Given the description of an element on the screen output the (x, y) to click on. 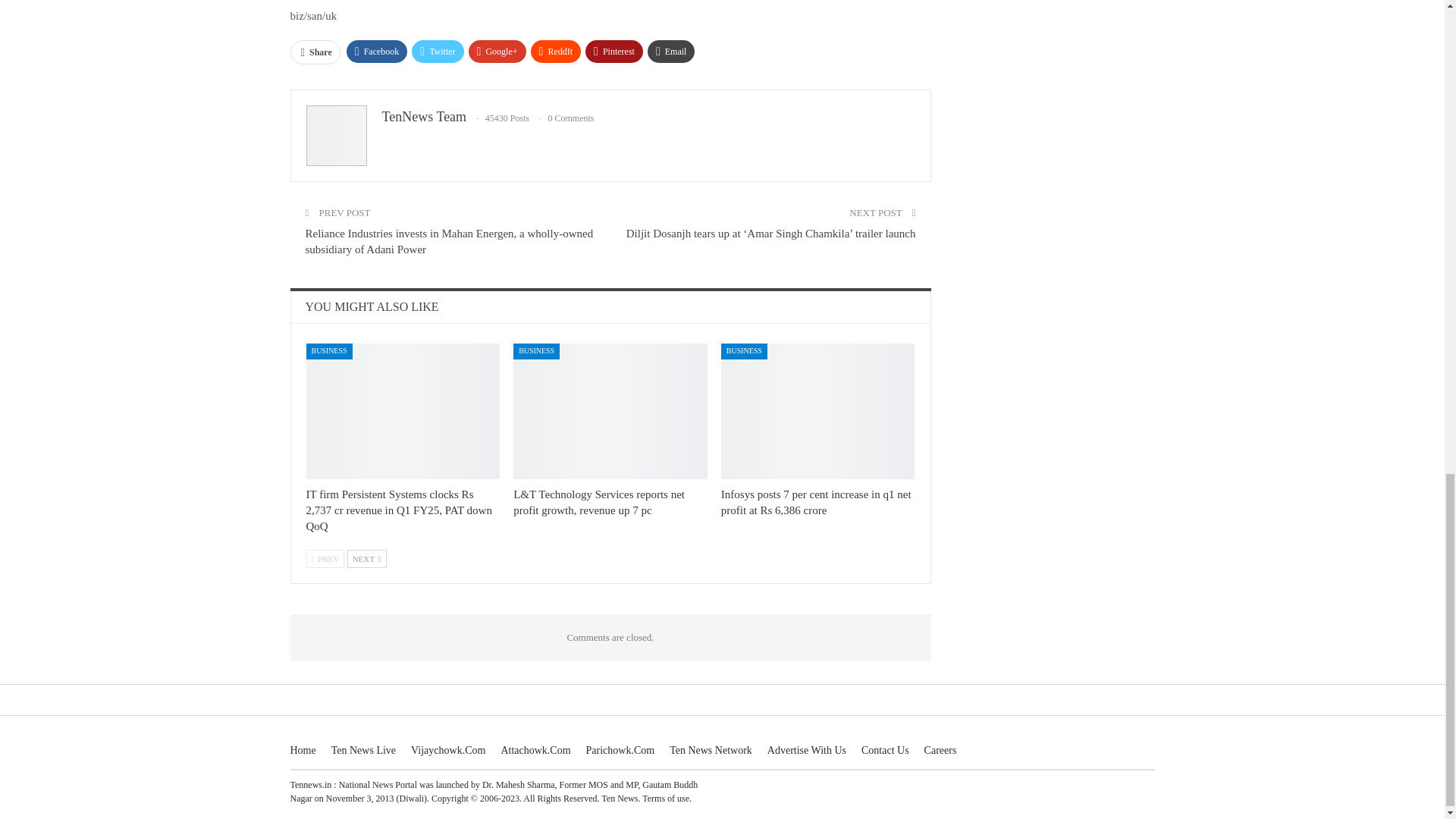
Facebook (376, 51)
Twitter (437, 51)
Previous (325, 558)
ReddIt (555, 51)
Next (367, 558)
